Given the description of an element on the screen output the (x, y) to click on. 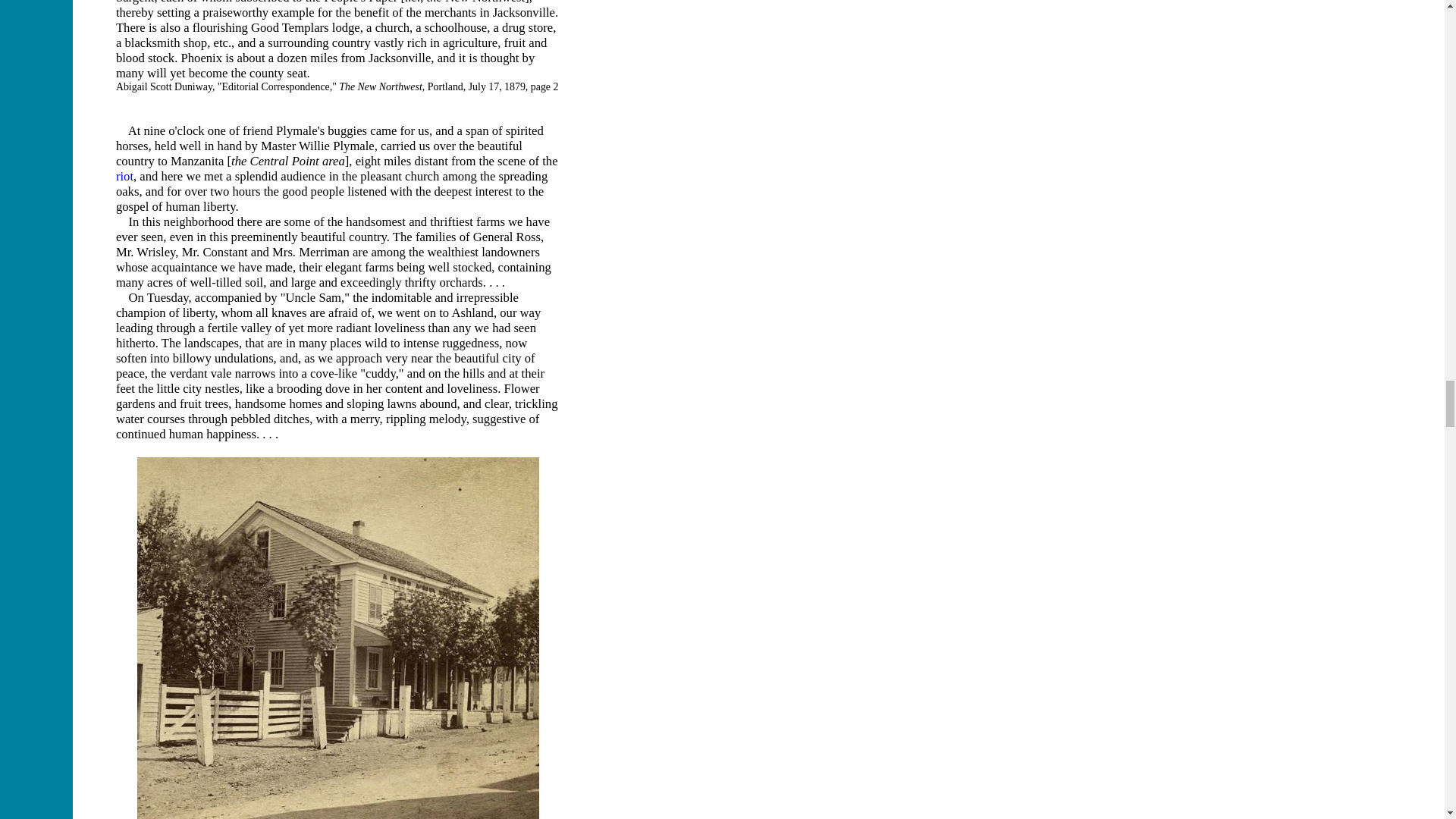
riot (124, 175)
